Given the description of an element on the screen output the (x, y) to click on. 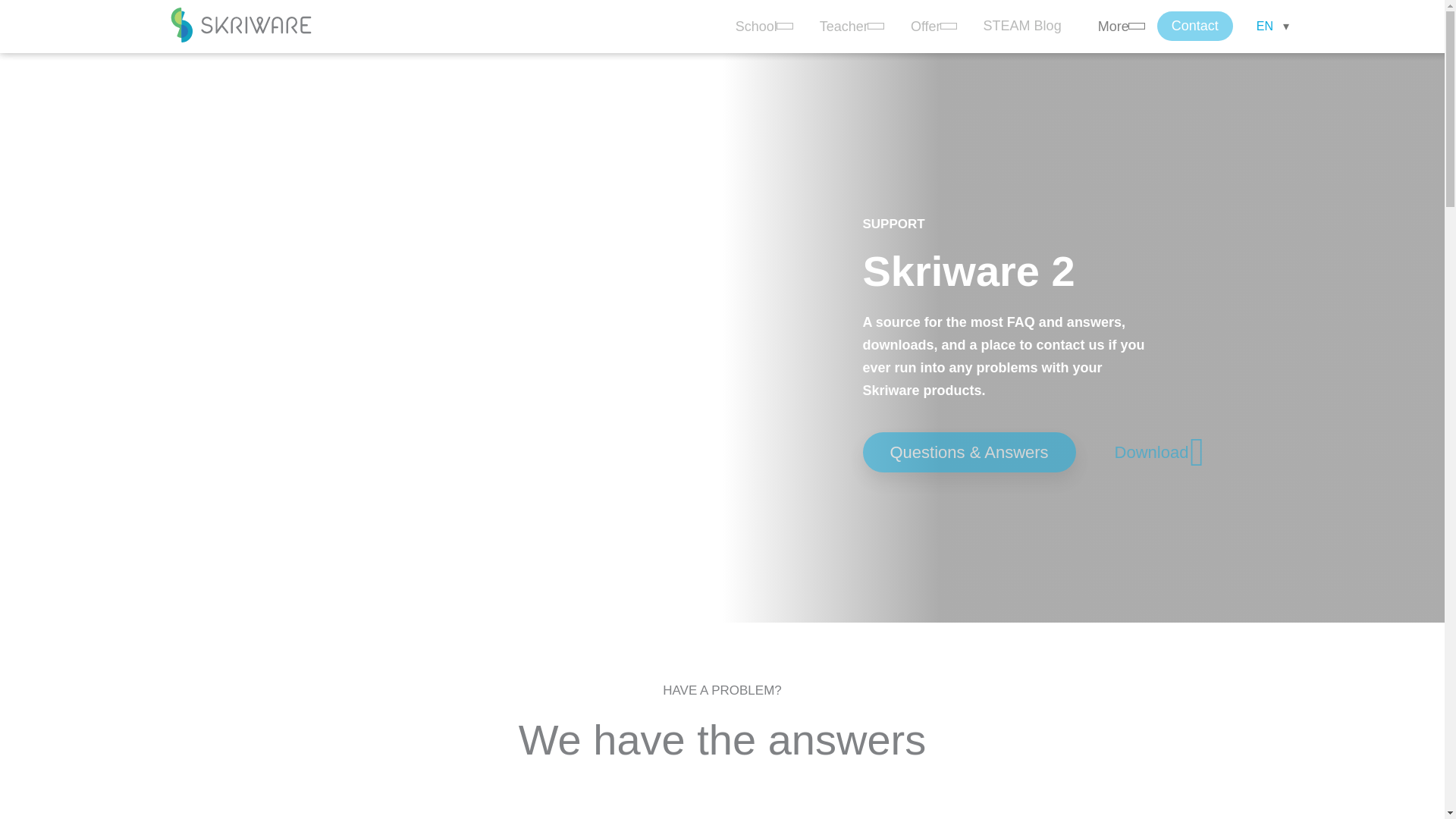
Teacher (846, 26)
School (759, 17)
School (758, 26)
Offer (928, 26)
Teacher (847, 17)
Offer (928, 17)
